Given the description of an element on the screen output the (x, y) to click on. 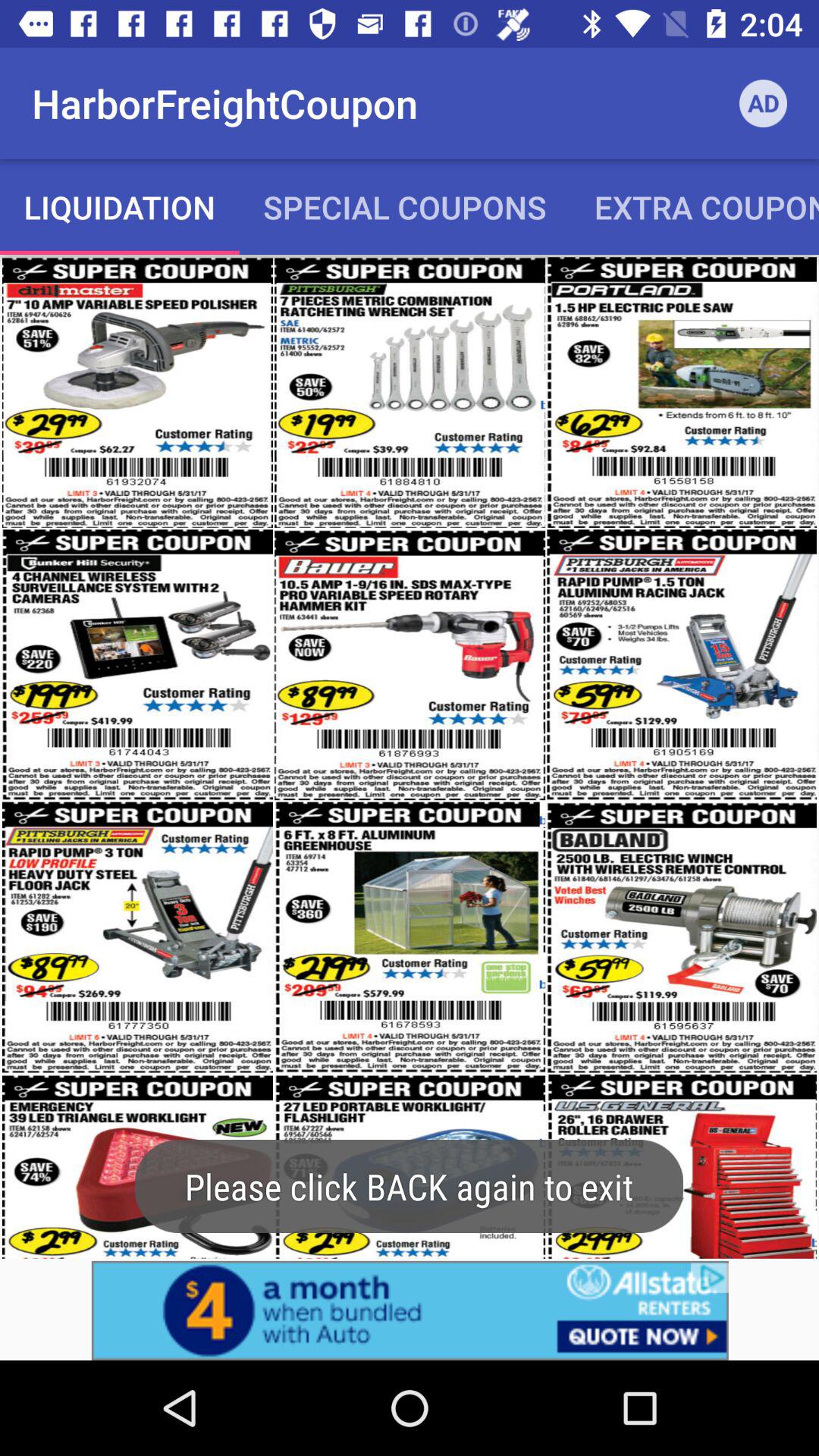
go to advert (409, 1310)
